Given the description of an element on the screen output the (x, y) to click on. 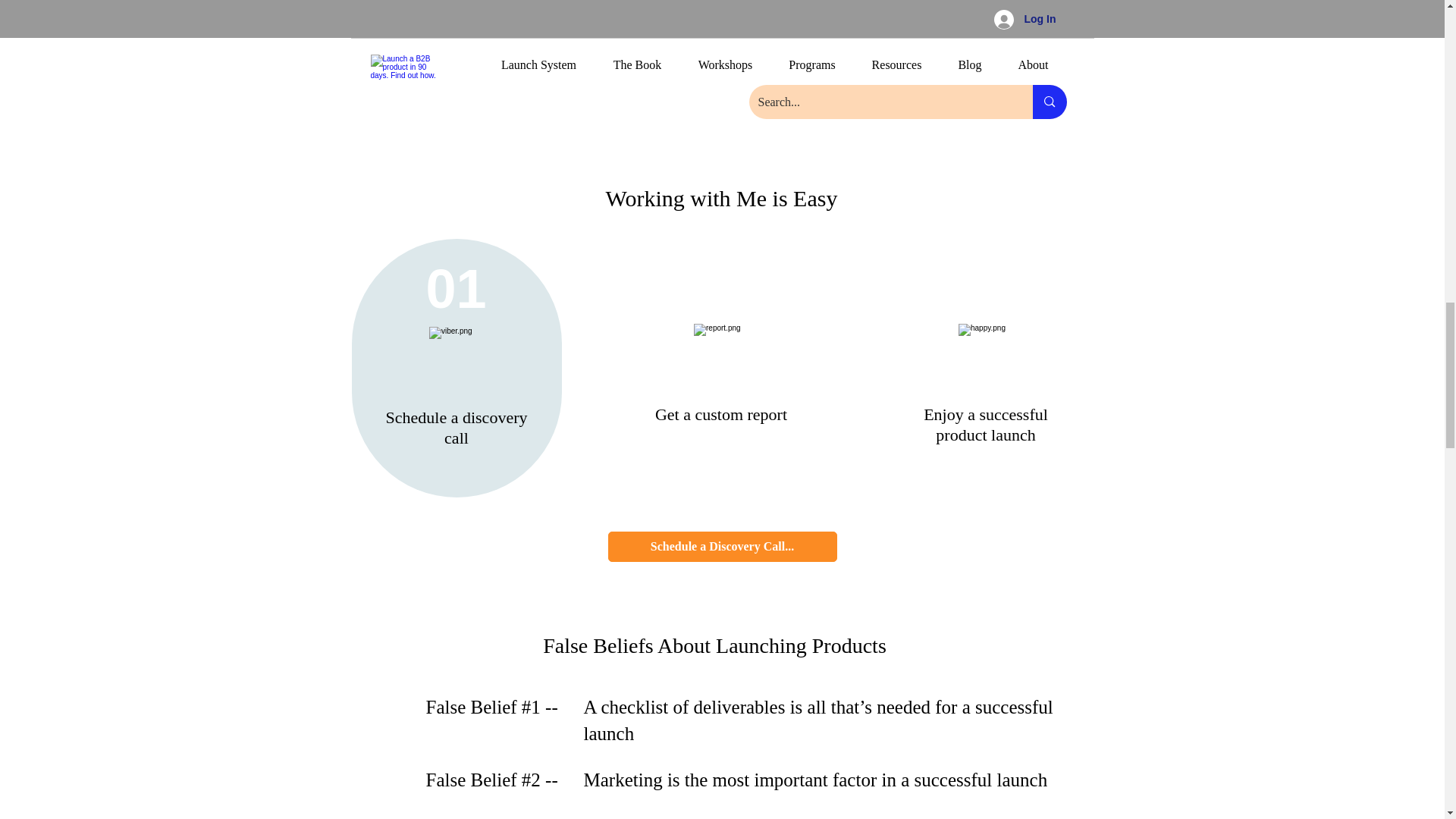
Learn more... (459, 112)
Learn more... (717, 112)
Schedule a Discovery Call... (722, 546)
